Given the description of an element on the screen output the (x, y) to click on. 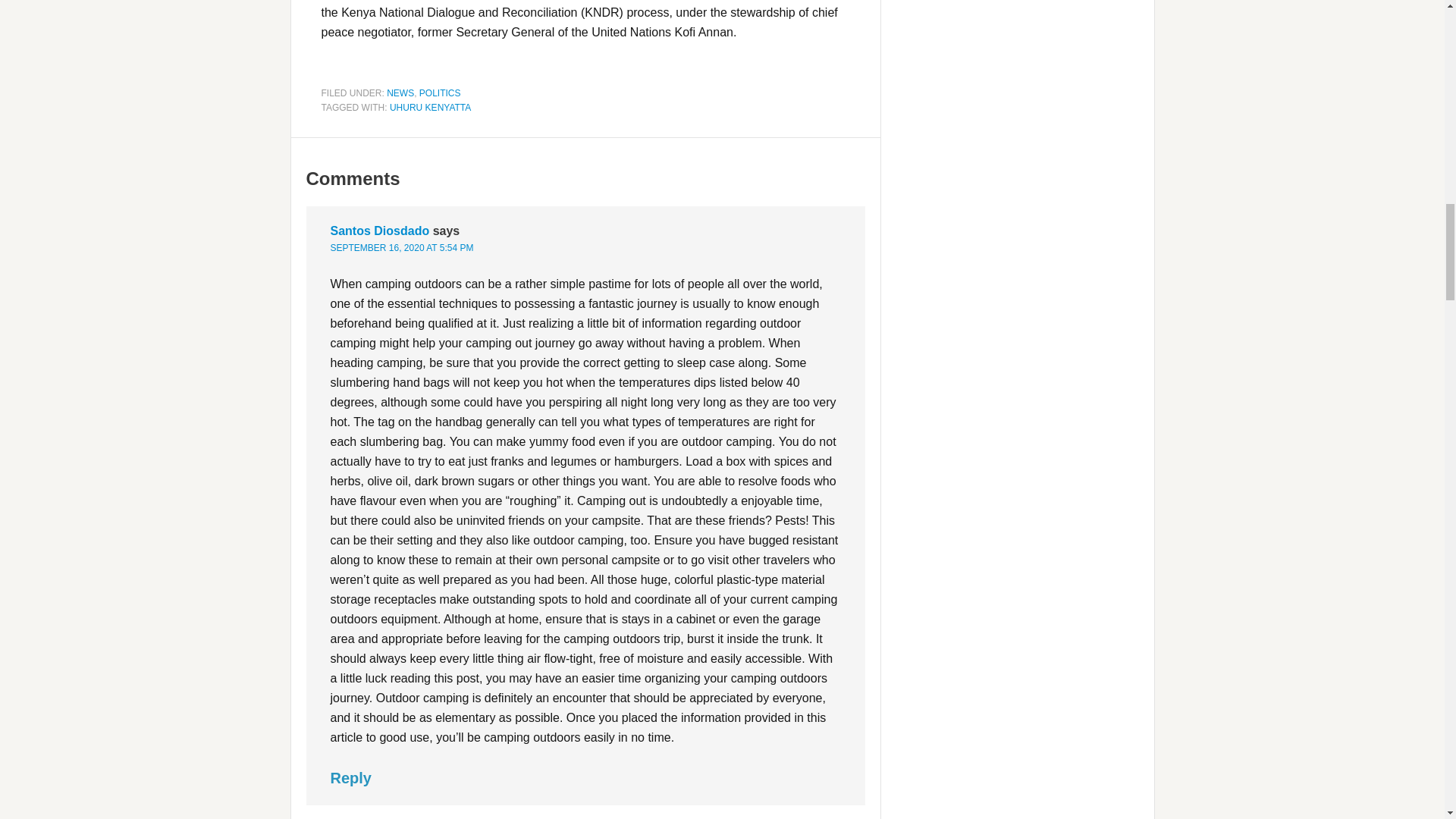
Santos Diosdado (379, 230)
POLITICS (440, 92)
SEPTEMBER 16, 2020 AT 5:54 PM (402, 247)
Reply (350, 777)
UHURU KENYATTA (430, 107)
NEWS (400, 92)
